Given the description of an element on the screen output the (x, y) to click on. 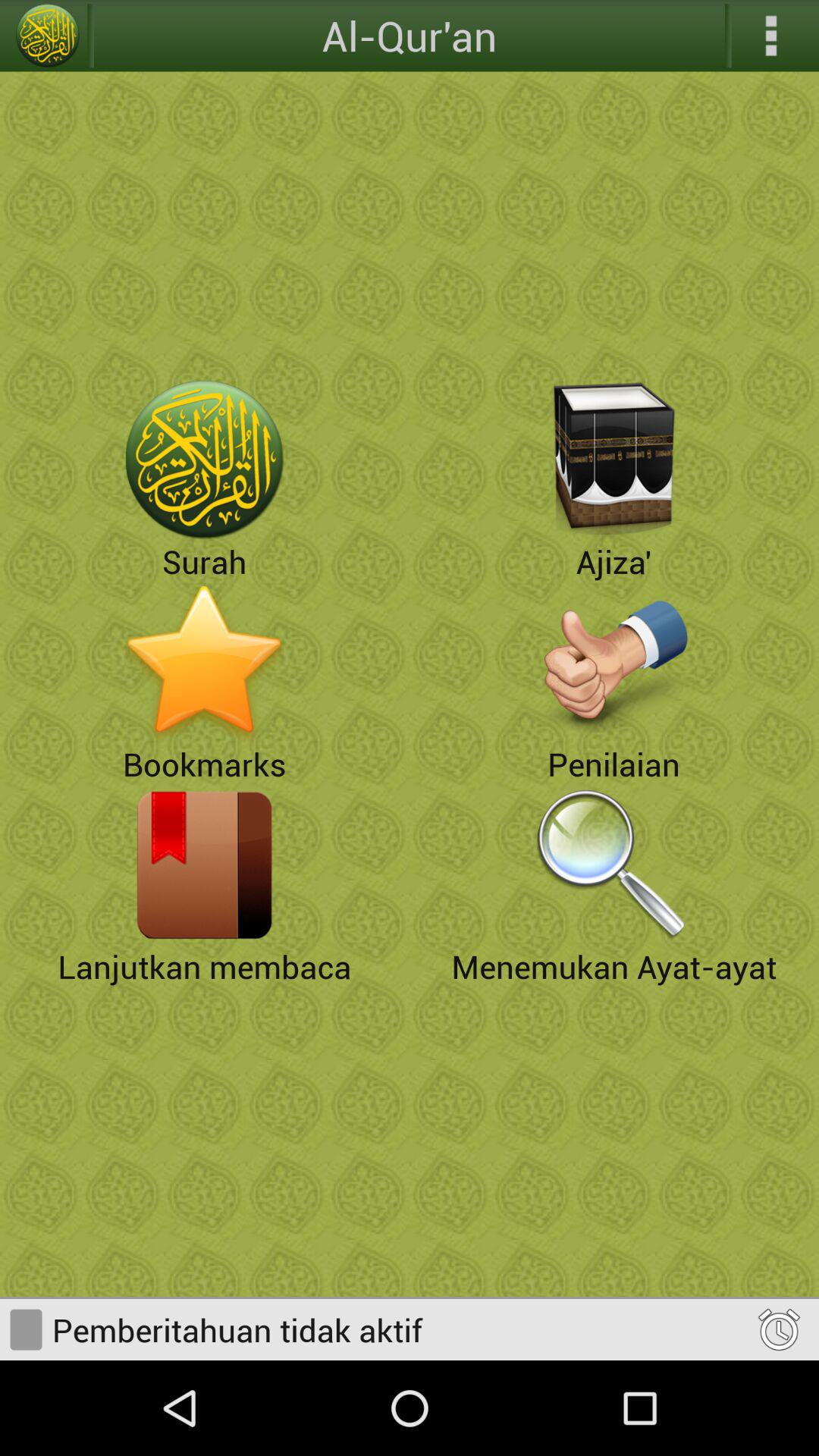
menu icon (771, 35)
